Given the description of an element on the screen output the (x, y) to click on. 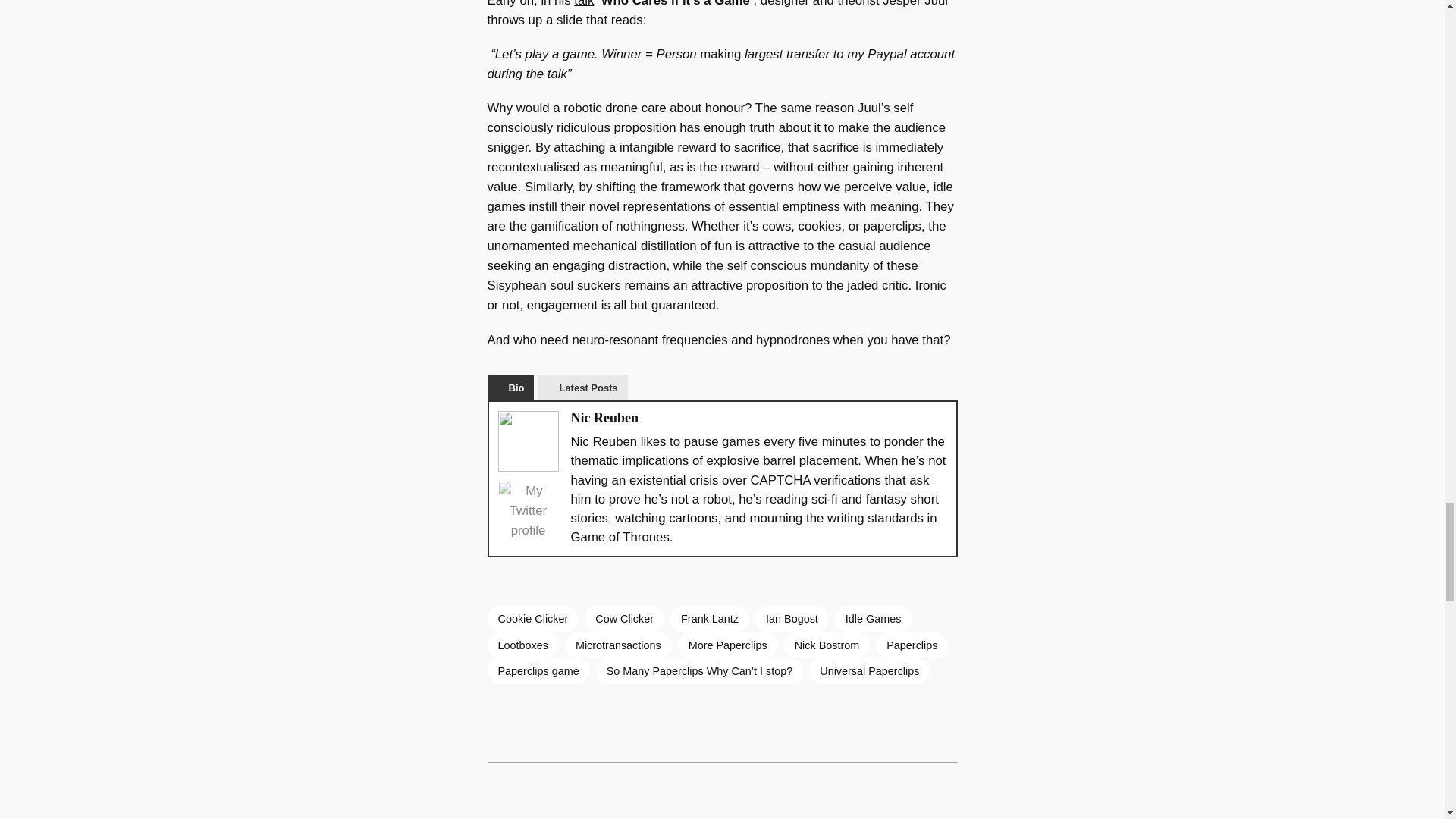
Lootboxes (521, 645)
Bio (510, 387)
Microtransactions (617, 645)
Latest Posts (582, 387)
Twitter (528, 510)
talk (583, 3)
Cow Clicker (624, 618)
More Paperclips (727, 645)
Ian Bogost (791, 618)
Idle Games (873, 618)
Cookie Clicker (532, 618)
Paperclips game (537, 670)
Nick Bostrom (827, 645)
Paperclips (911, 645)
Frank Lantz (709, 618)
